Given the description of an element on the screen output the (x, y) to click on. 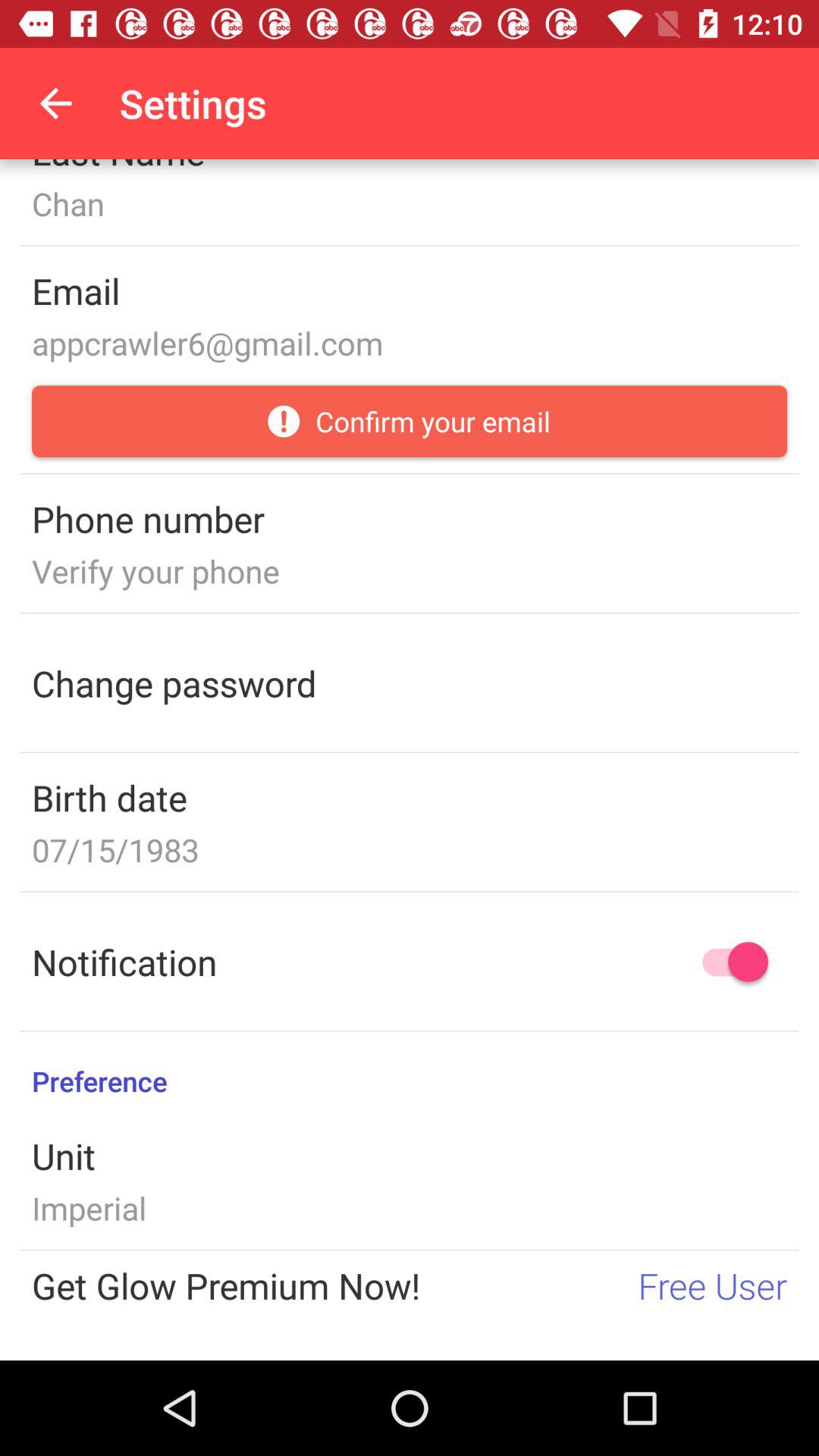
toggle notification (727, 962)
